Given the description of an element on the screen output the (x, y) to click on. 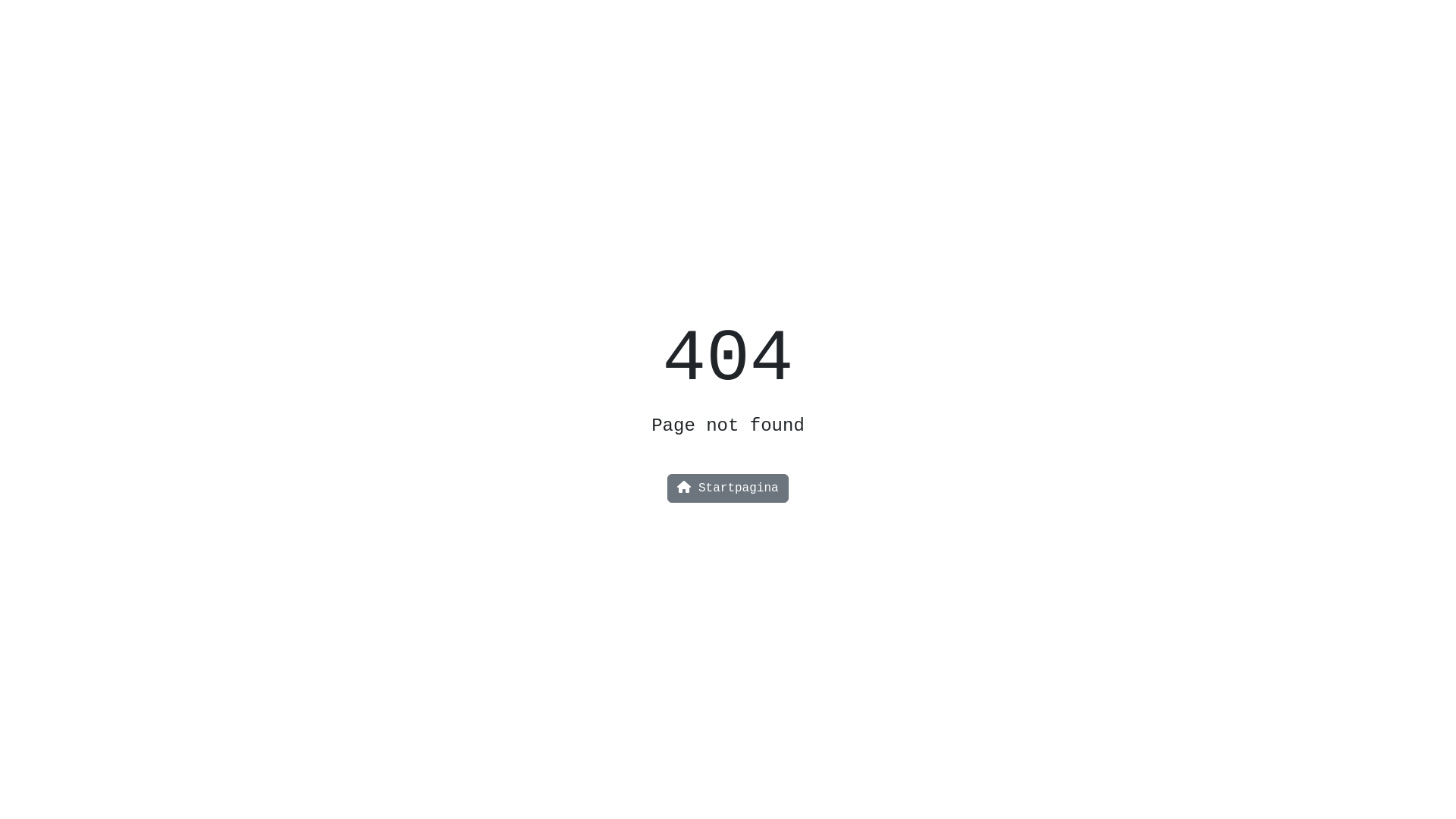
Startpagina Element type: text (727, 487)
